Given the description of an element on the screen output the (x, y) to click on. 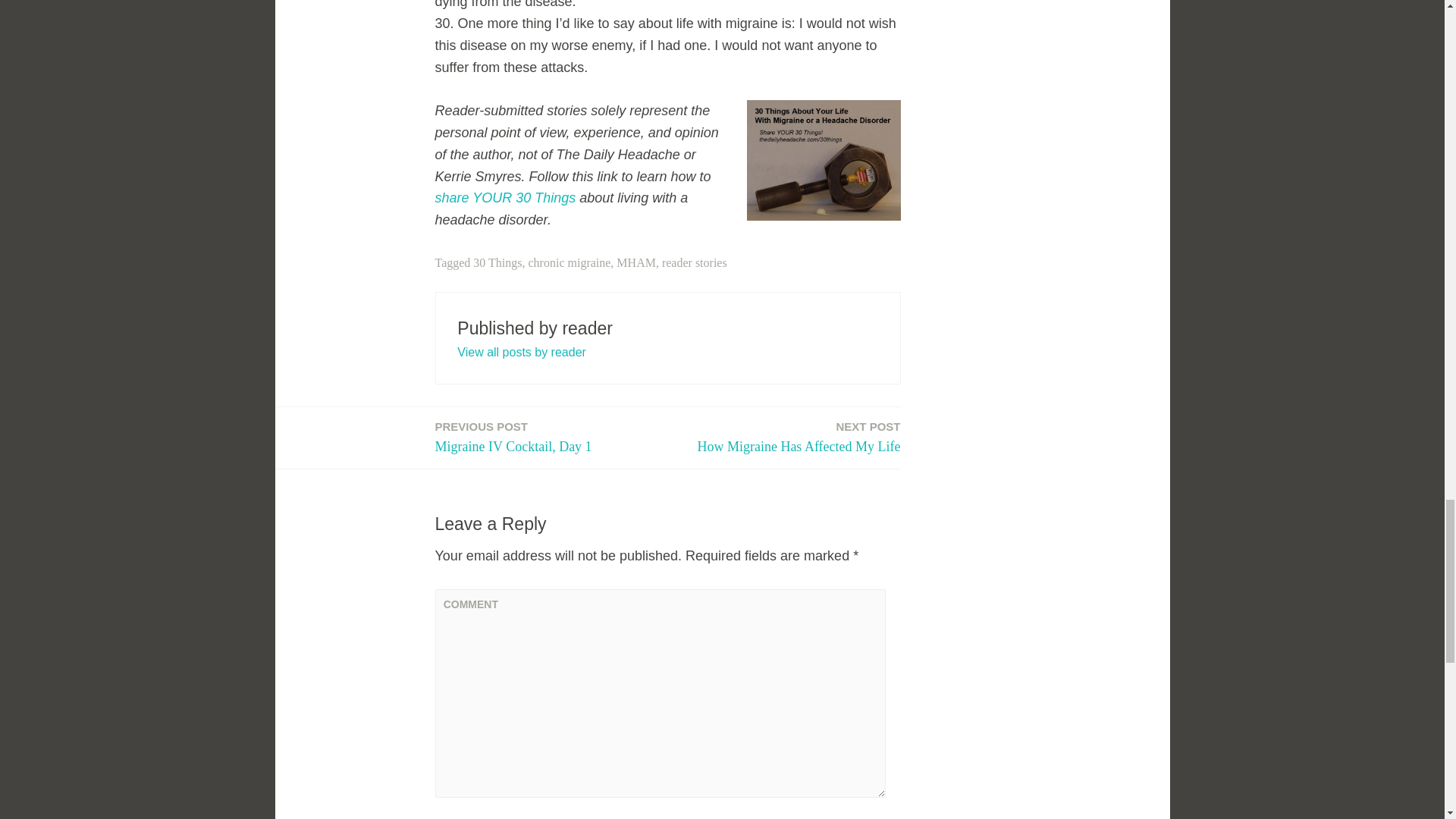
30 Things (497, 262)
chronic migraine (513, 437)
reader stories (569, 262)
View all posts by reader (694, 262)
share YOUR 30 Things (521, 351)
MHAM (505, 197)
